Given the description of an element on the screen output the (x, y) to click on. 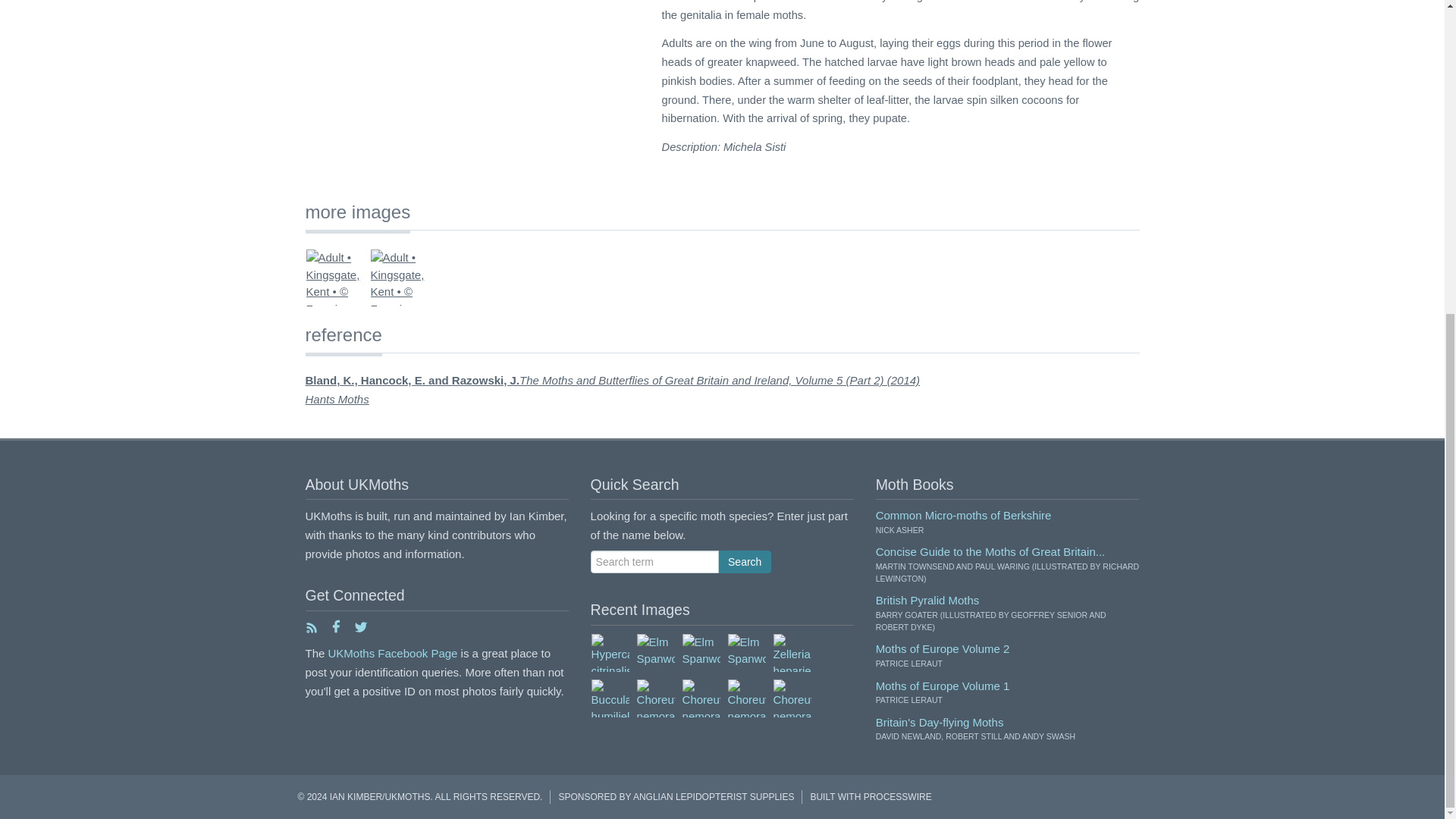
 Elm Spanworm Ennomos subsignaria (655, 652)
Hypercallia citrinalis (609, 652)
Bucculatrix humiliella (609, 698)
Choreutis nemorana (655, 698)
Zelleria hepariella (791, 652)
 Elm Spanworm Ennomos subsignaria (700, 652)
 Elm Spanworm Ennomos subsignaria (745, 652)
